Given the description of an element on the screen output the (x, y) to click on. 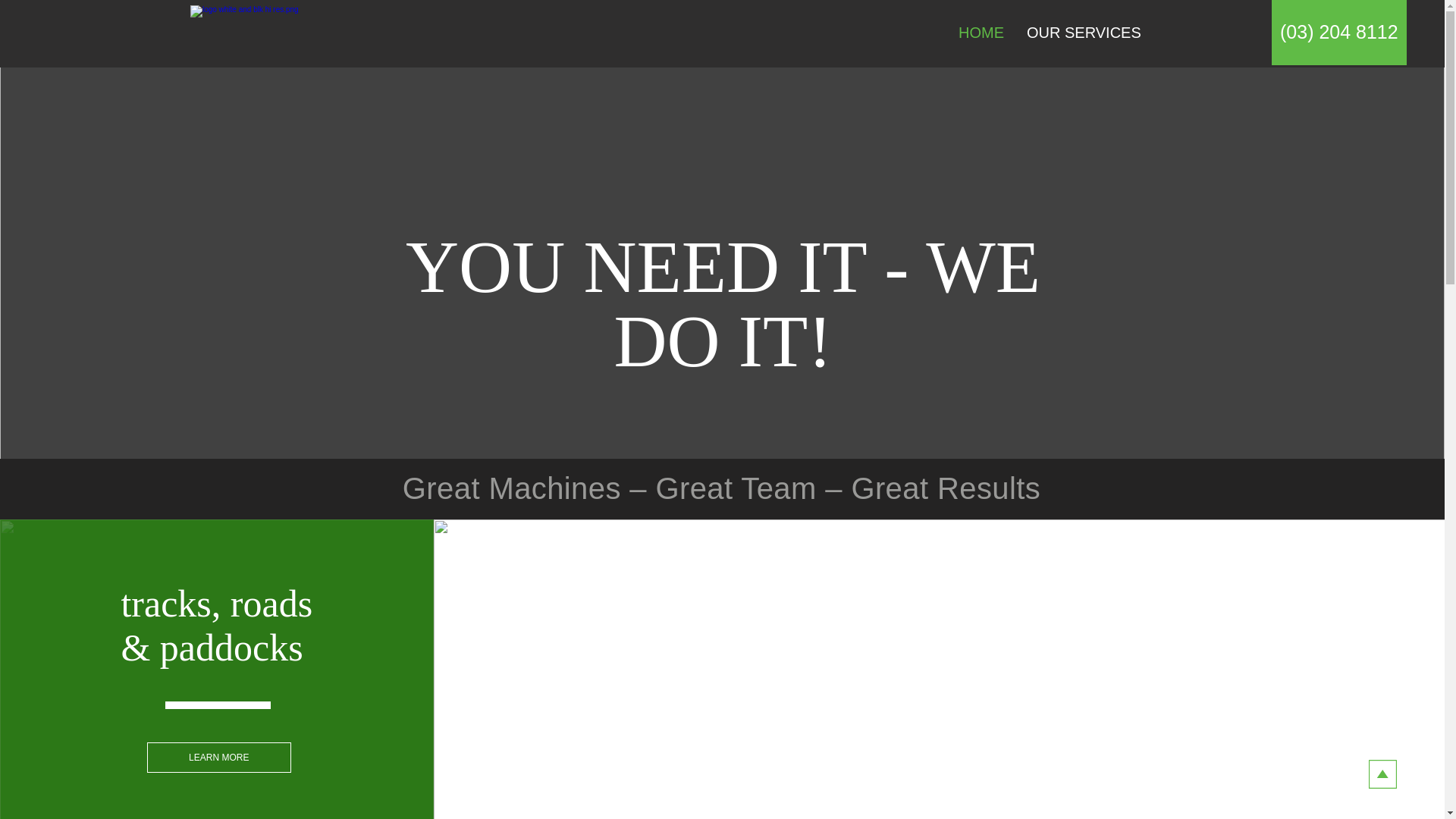
HOME (980, 32)
OUR SERVICES (1082, 32)
LEARN MORE (219, 757)
